Given the description of an element on the screen output the (x, y) to click on. 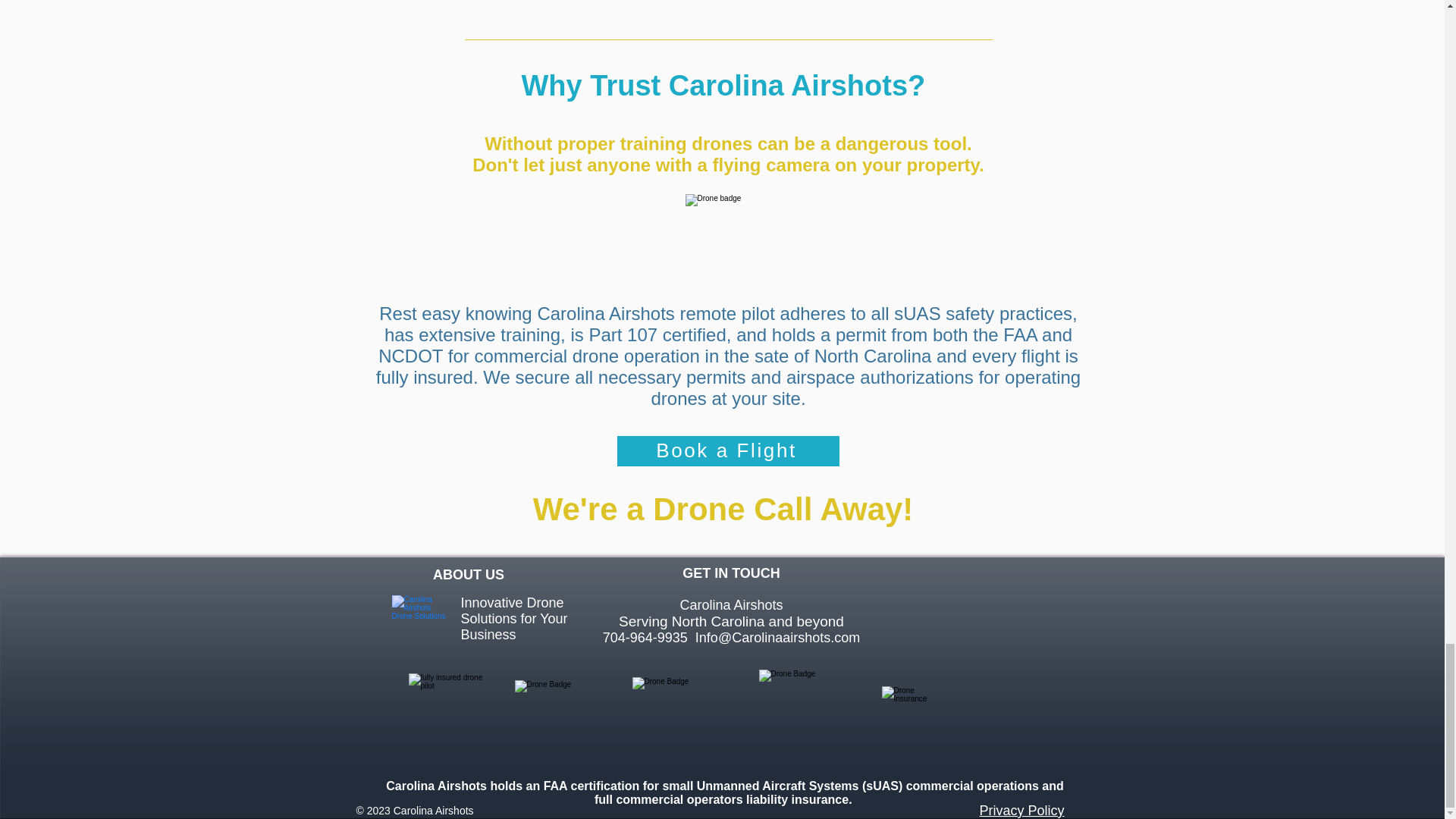
Book a Flight (728, 450)
Privacy Policy (1021, 810)
